Given the description of an element on the screen output the (x, y) to click on. 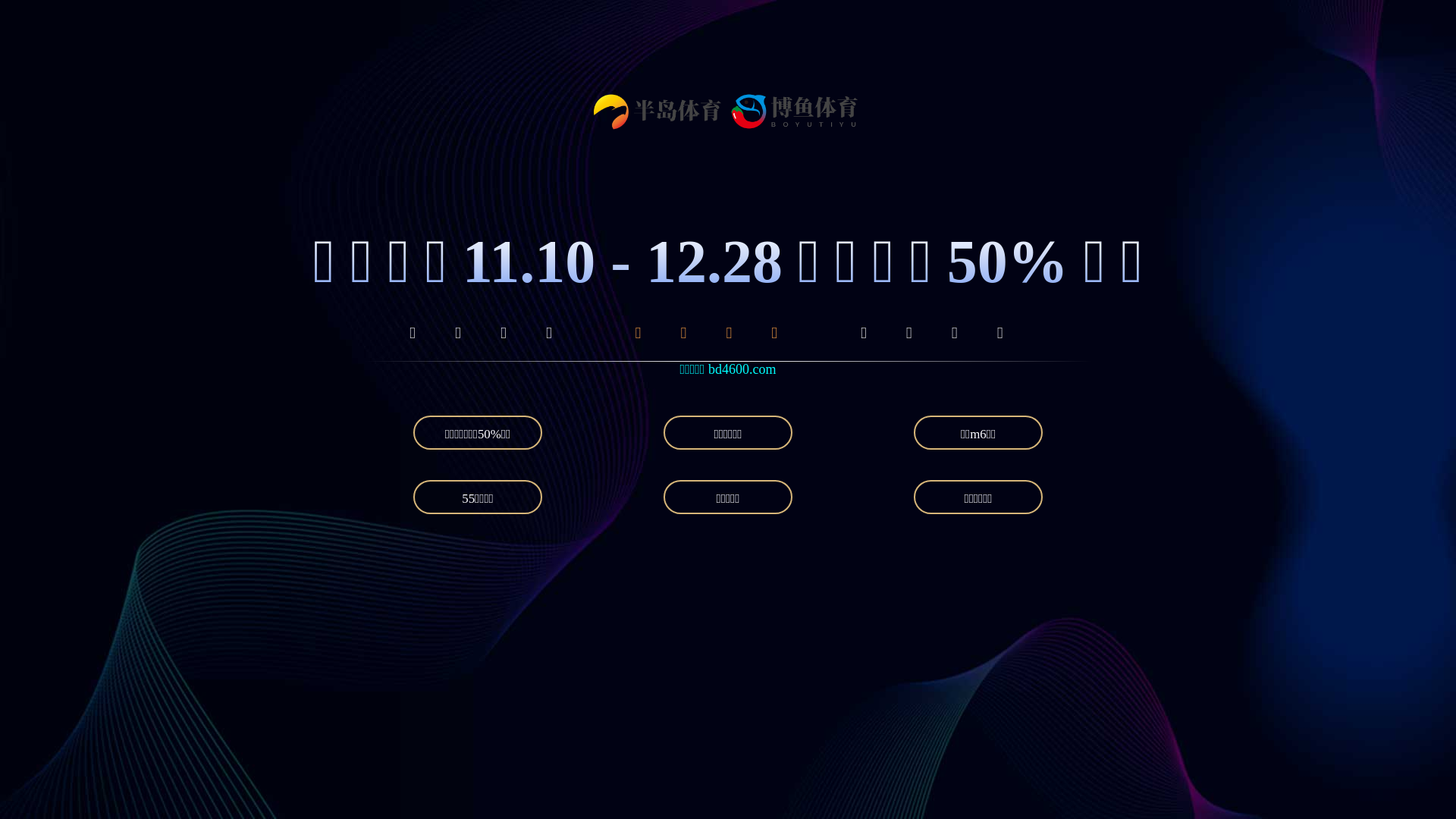
EN Element type: text (1076, 54)
